Given the description of an element on the screen output the (x, y) to click on. 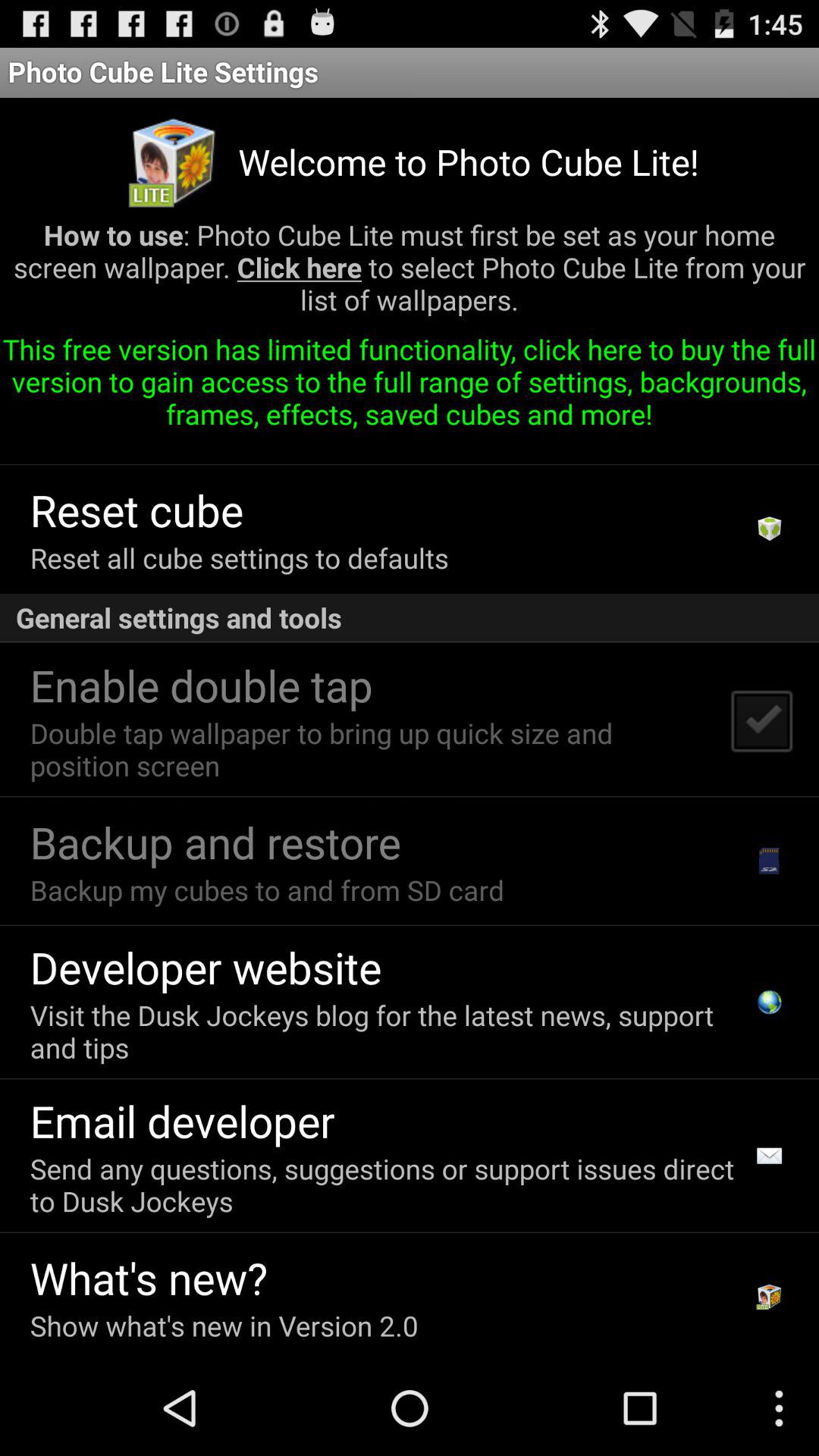
click the visit the dusk icon (386, 1031)
